Given the description of an element on the screen output the (x, y) to click on. 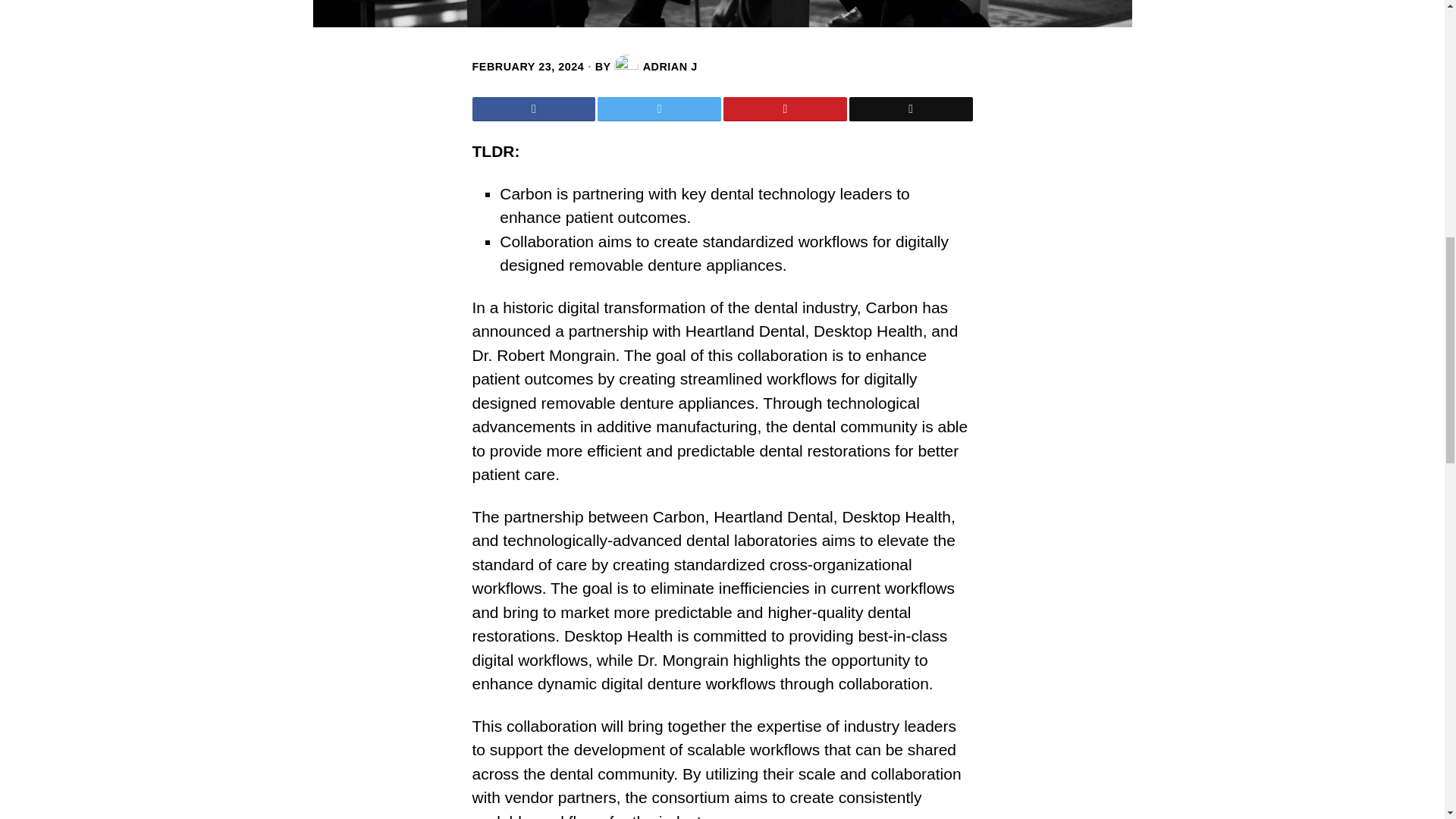
23 Feb, 2024 15:21:05 (527, 66)
ADRIAN J (655, 66)
